Given the description of an element on the screen output the (x, y) to click on. 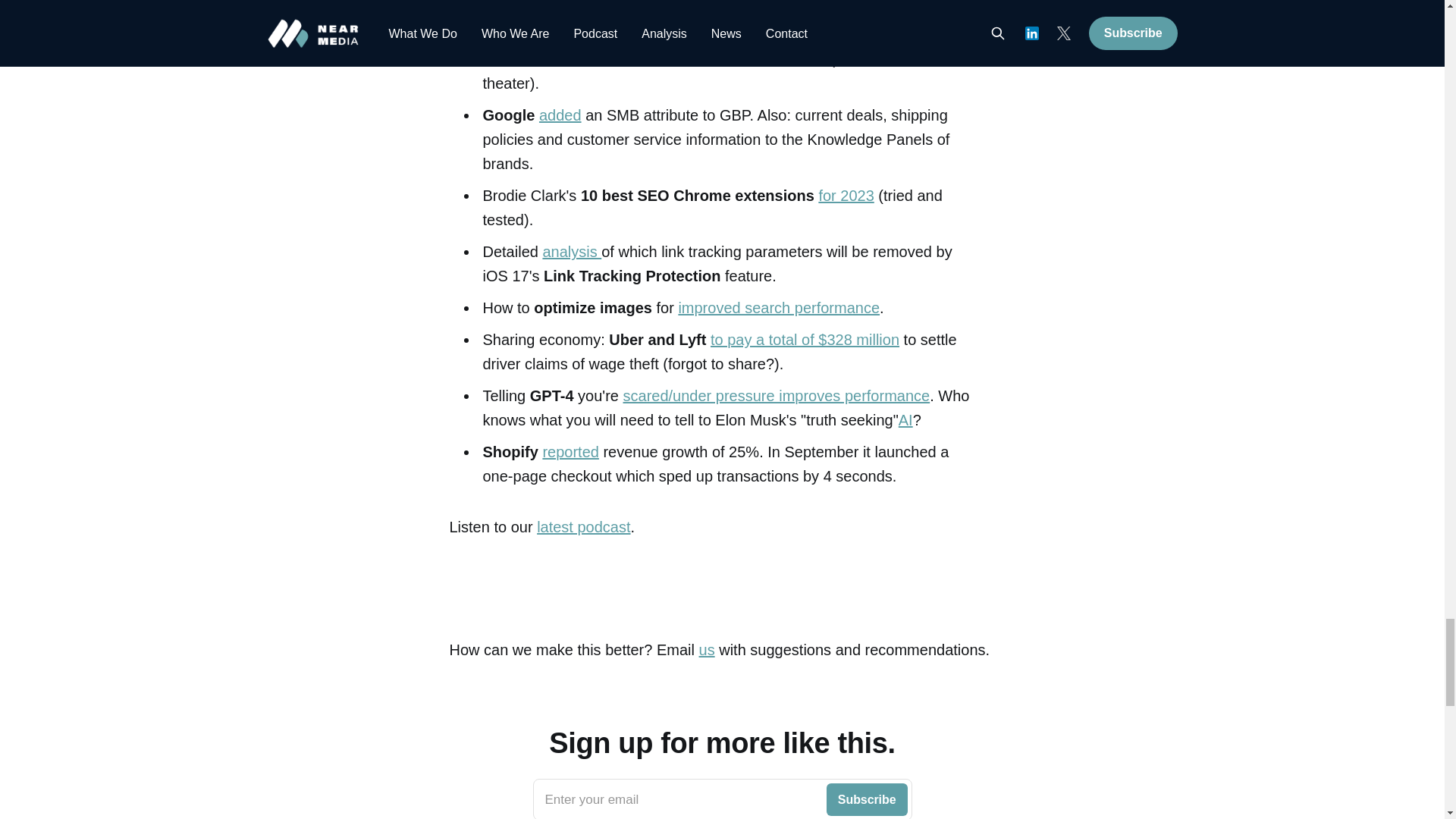
for 2023 (845, 195)
added (559, 115)
analysis (571, 251)
improved search performance (778, 307)
latest podcast (583, 526)
us (706, 649)
reported (569, 451)
launched (721, 798)
